Given the description of an element on the screen output the (x, y) to click on. 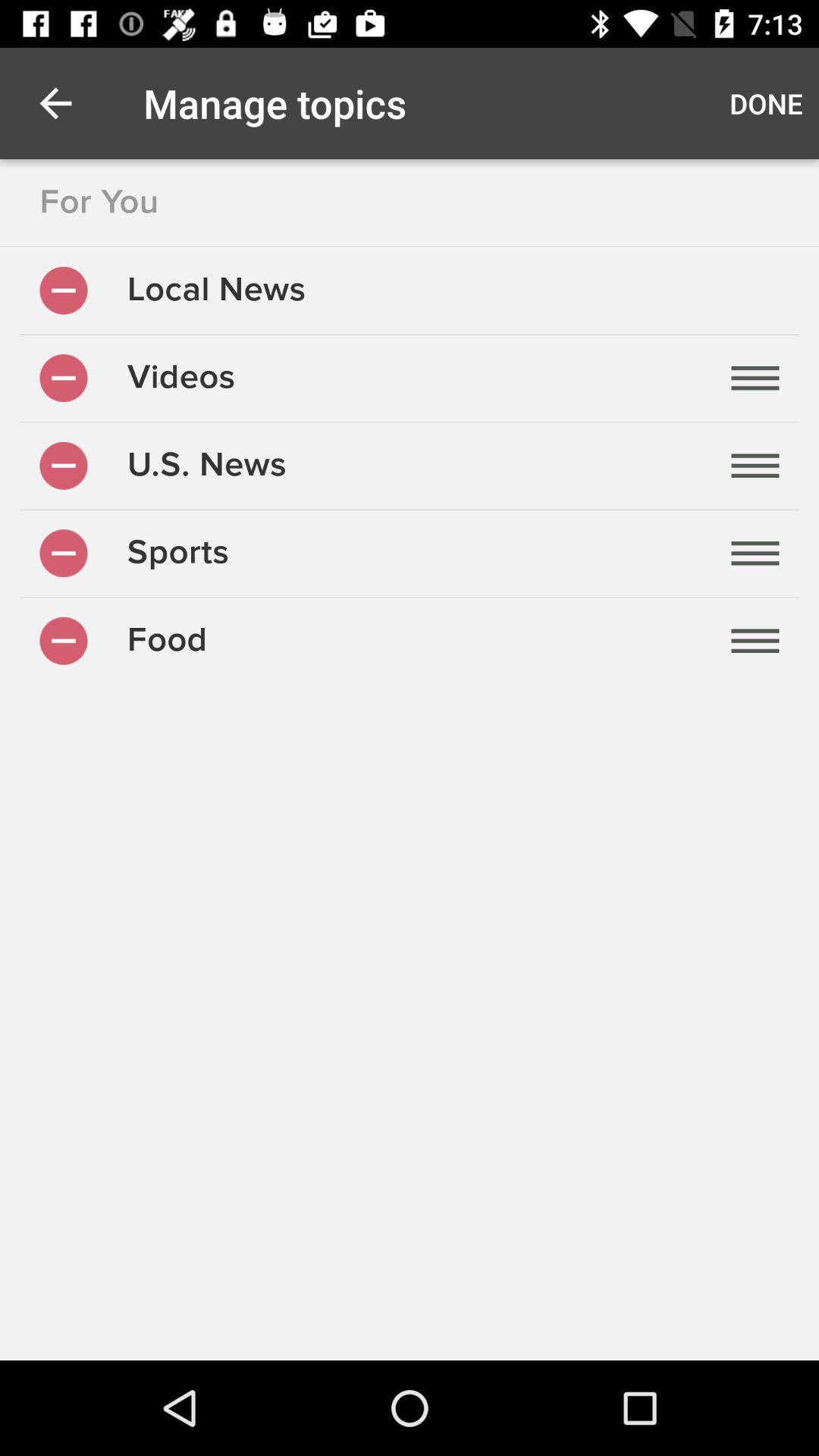
click to hide topic (63, 465)
